Given the description of an element on the screen output the (x, y) to click on. 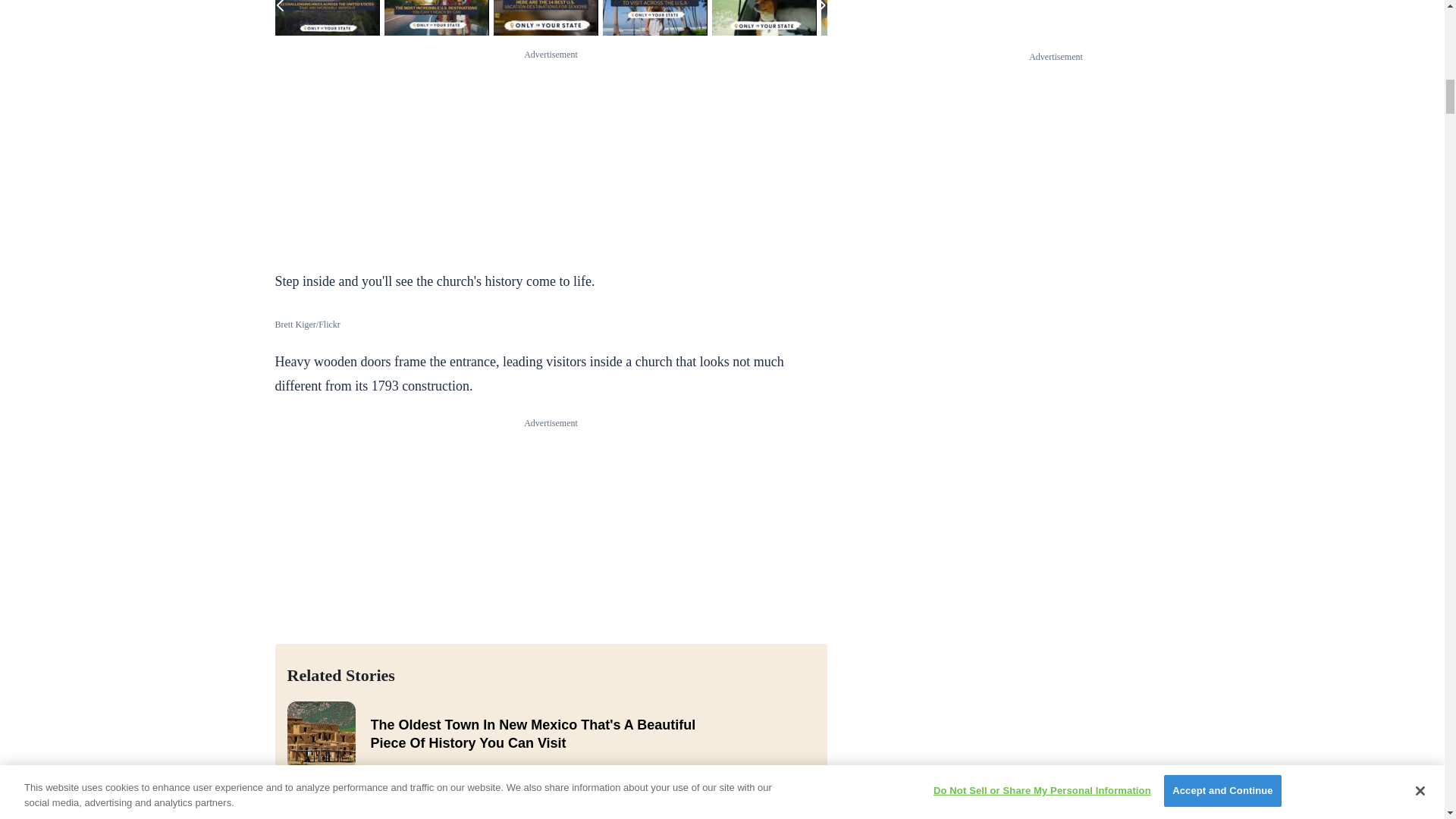
3rd party ad content (549, 155)
